Given the description of an element on the screen output the (x, y) to click on. 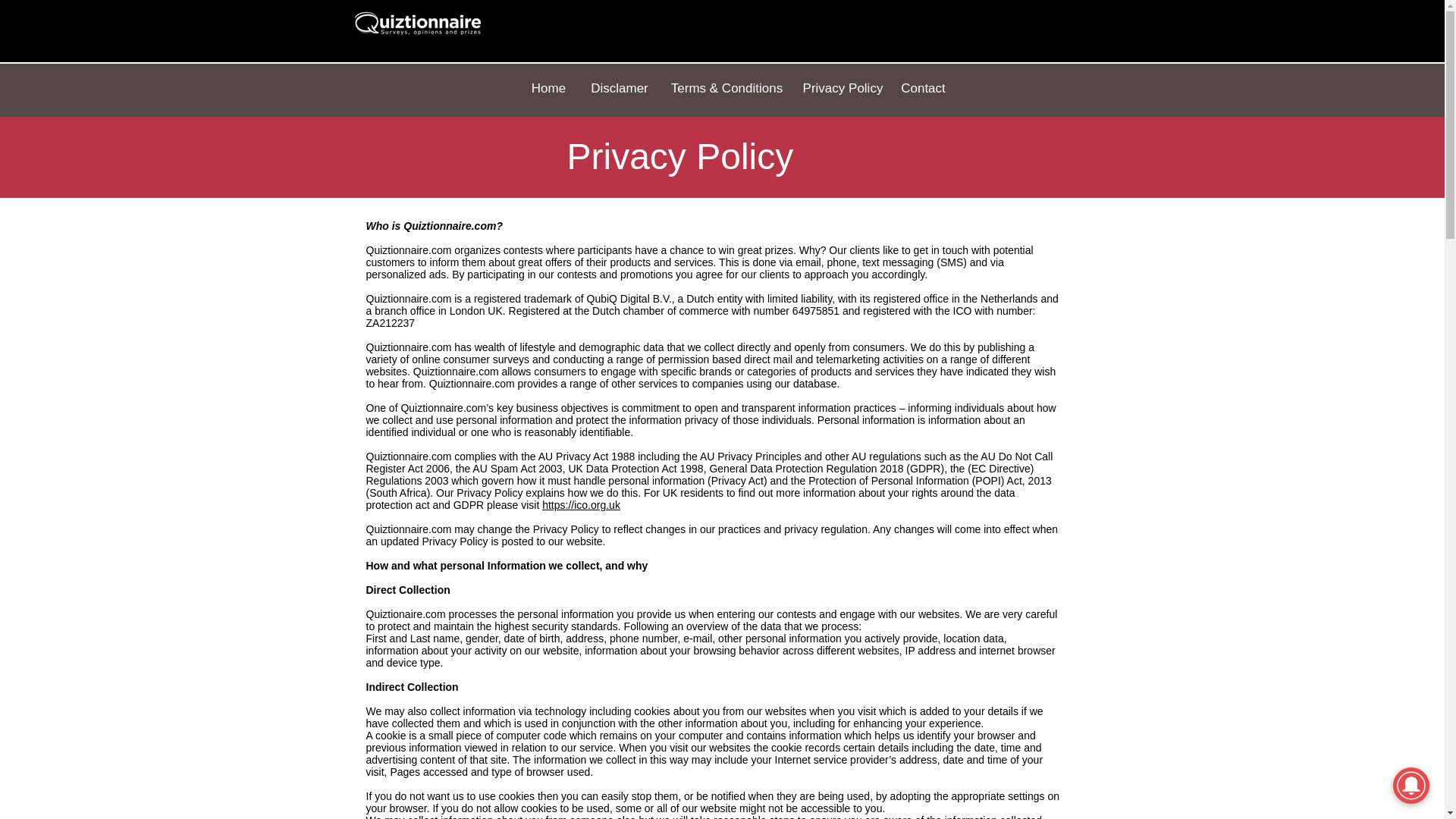
Privacy Policy (842, 88)
Disclamer (619, 88)
Contact (923, 88)
Home (548, 88)
